Given the description of an element on the screen output the (x, y) to click on. 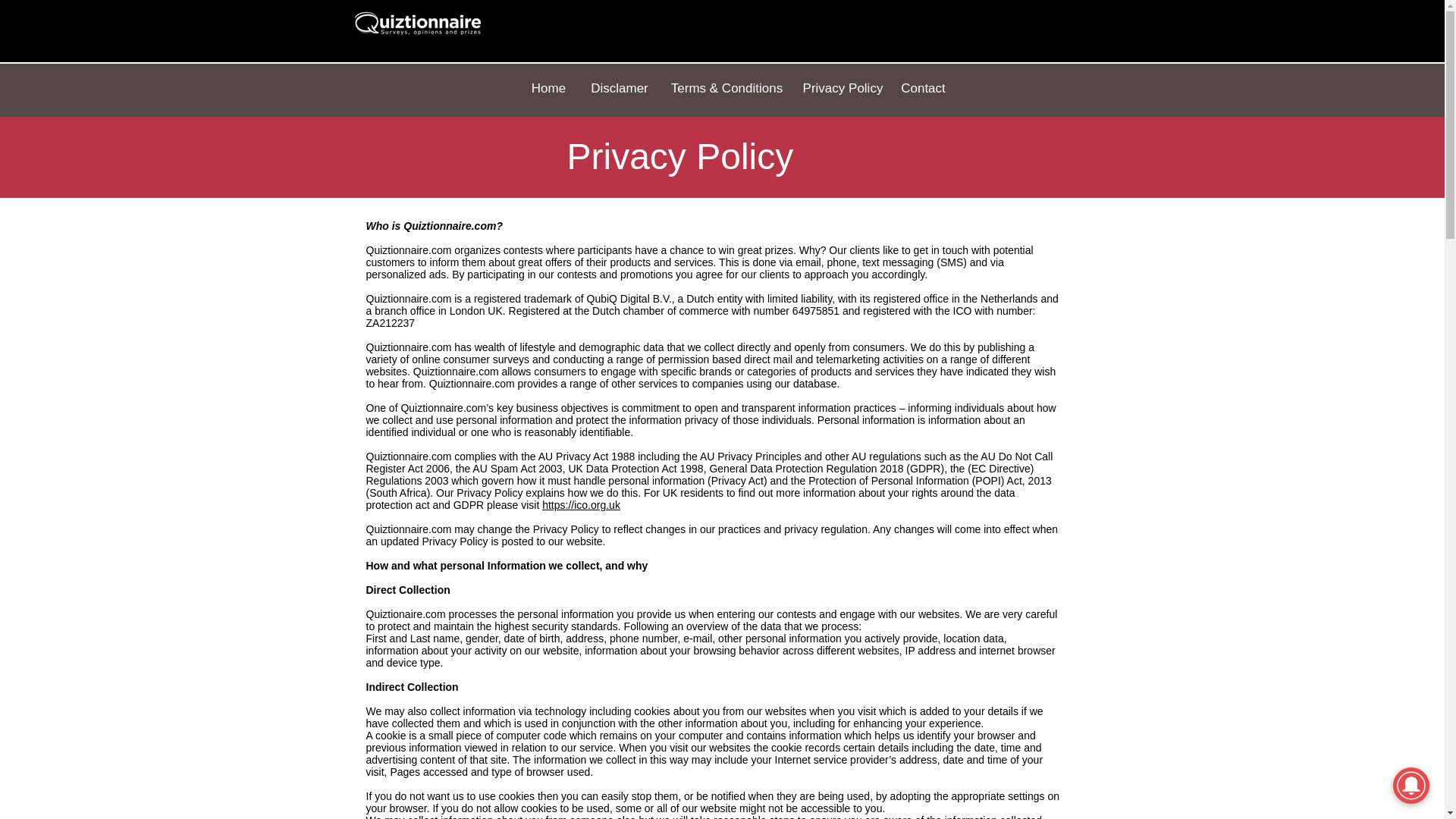
Privacy Policy (842, 88)
Disclamer (619, 88)
Contact (923, 88)
Home (548, 88)
